Given the description of an element on the screen output the (x, y) to click on. 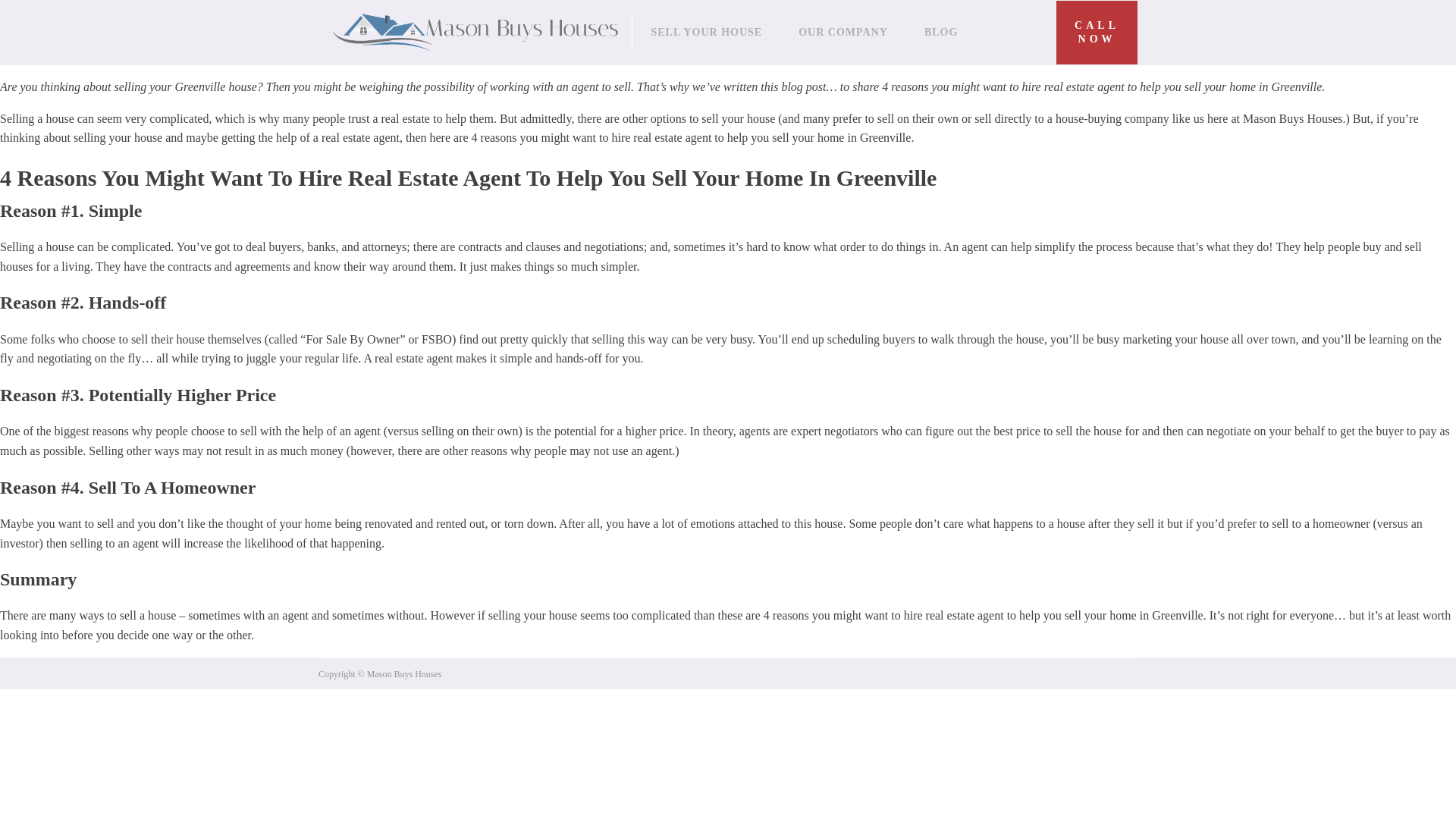
OUR COMPANY (842, 32)
BLOG (1097, 32)
SELL YOUR HOUSE (940, 32)
